Given the description of an element on the screen output the (x, y) to click on. 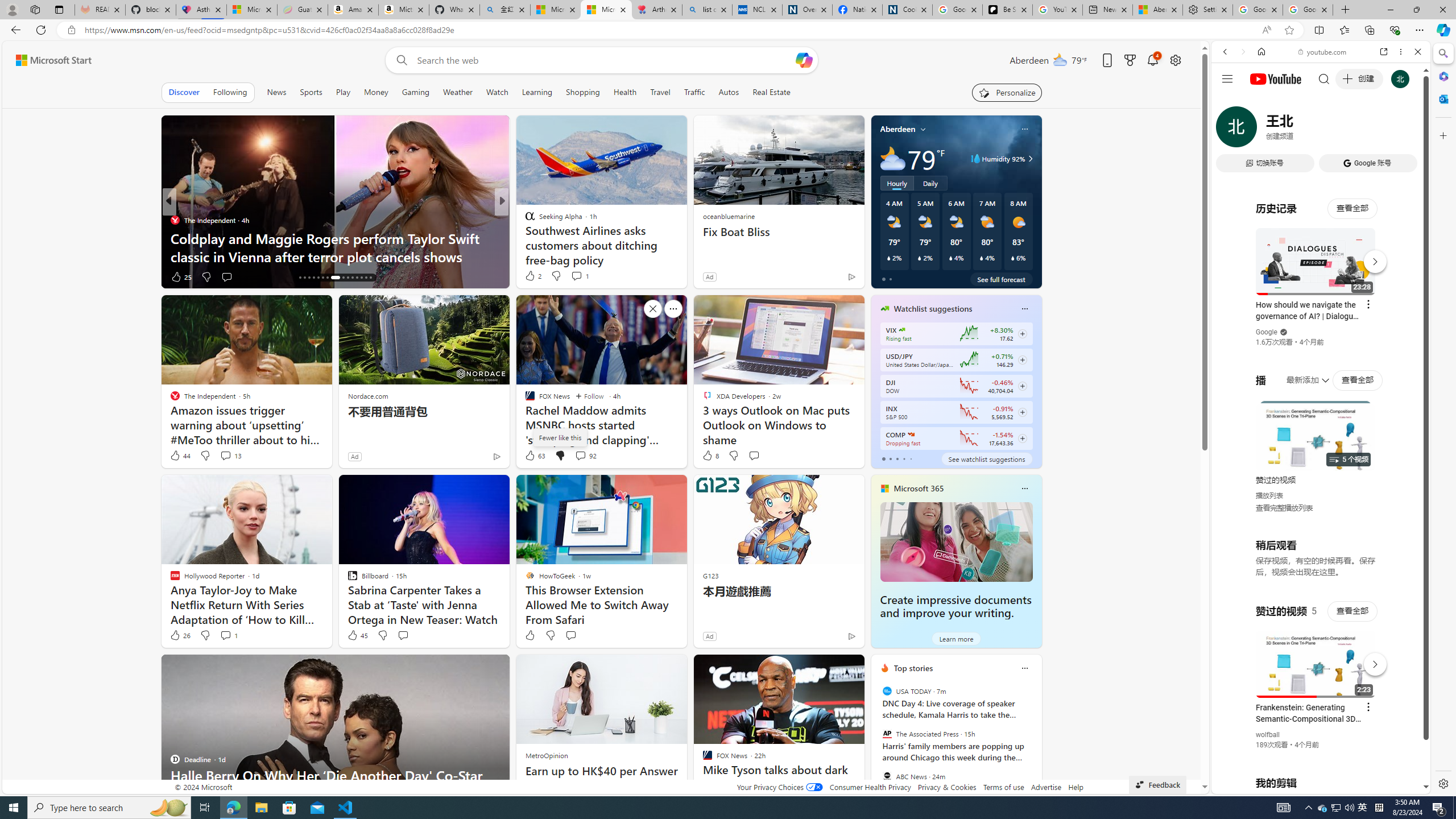
WEB   (1230, 130)
Preferences (1403, 129)
Play (342, 92)
Nordace.com (367, 395)
ABC News (886, 775)
Business Insider (524, 219)
tab-4 (910, 458)
tab-3 (903, 458)
YouTube (1315, 655)
See full forecast (1000, 278)
Mostly cloudy (892, 158)
Close Customize pane (1442, 135)
